Given the description of an element on the screen output the (x, y) to click on. 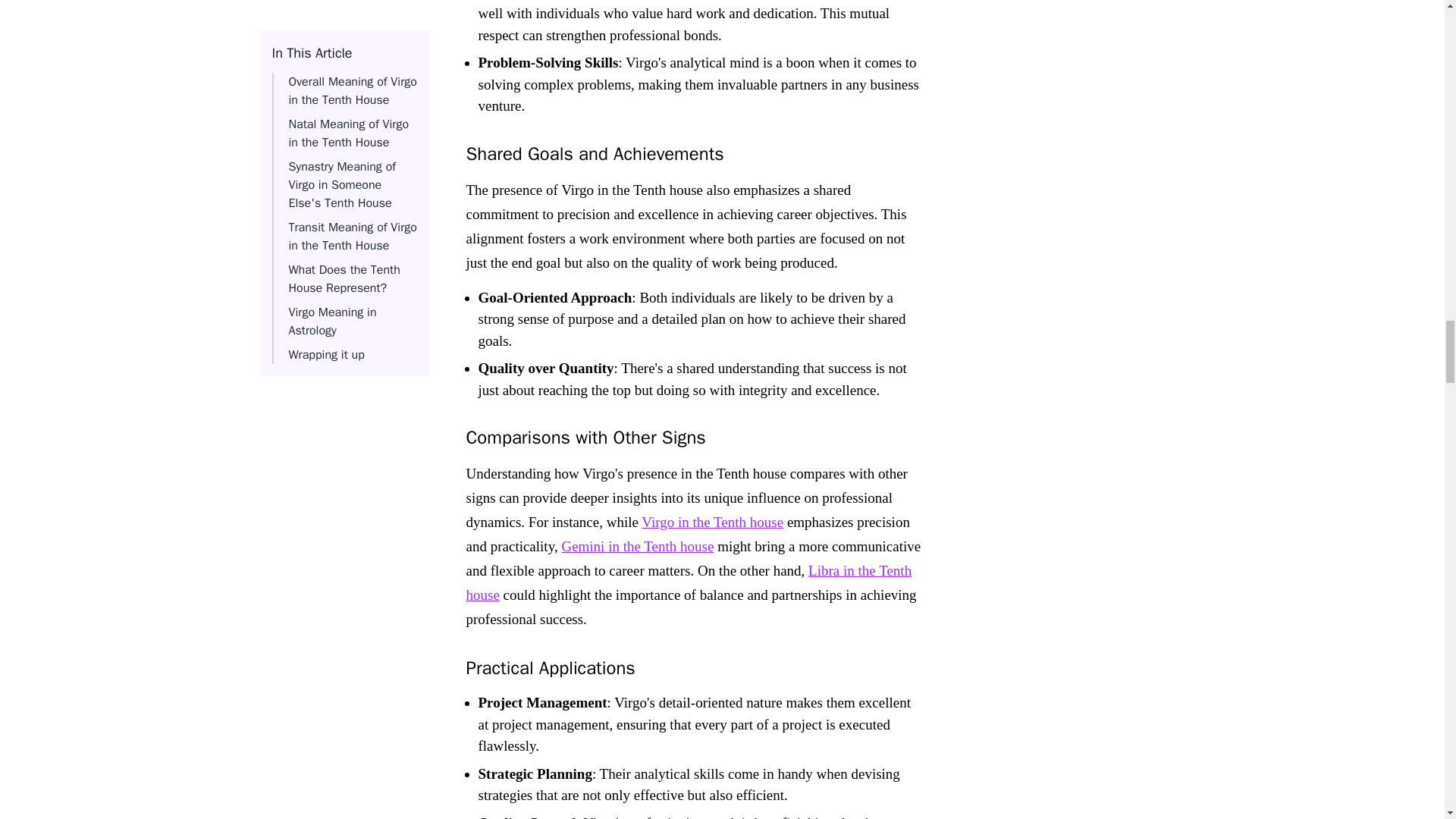
Gemini in the Tenth house (636, 546)
Virgo in the Tenth house (712, 521)
Libra in the Tenth house (688, 582)
